Given the description of an element on the screen output the (x, y) to click on. 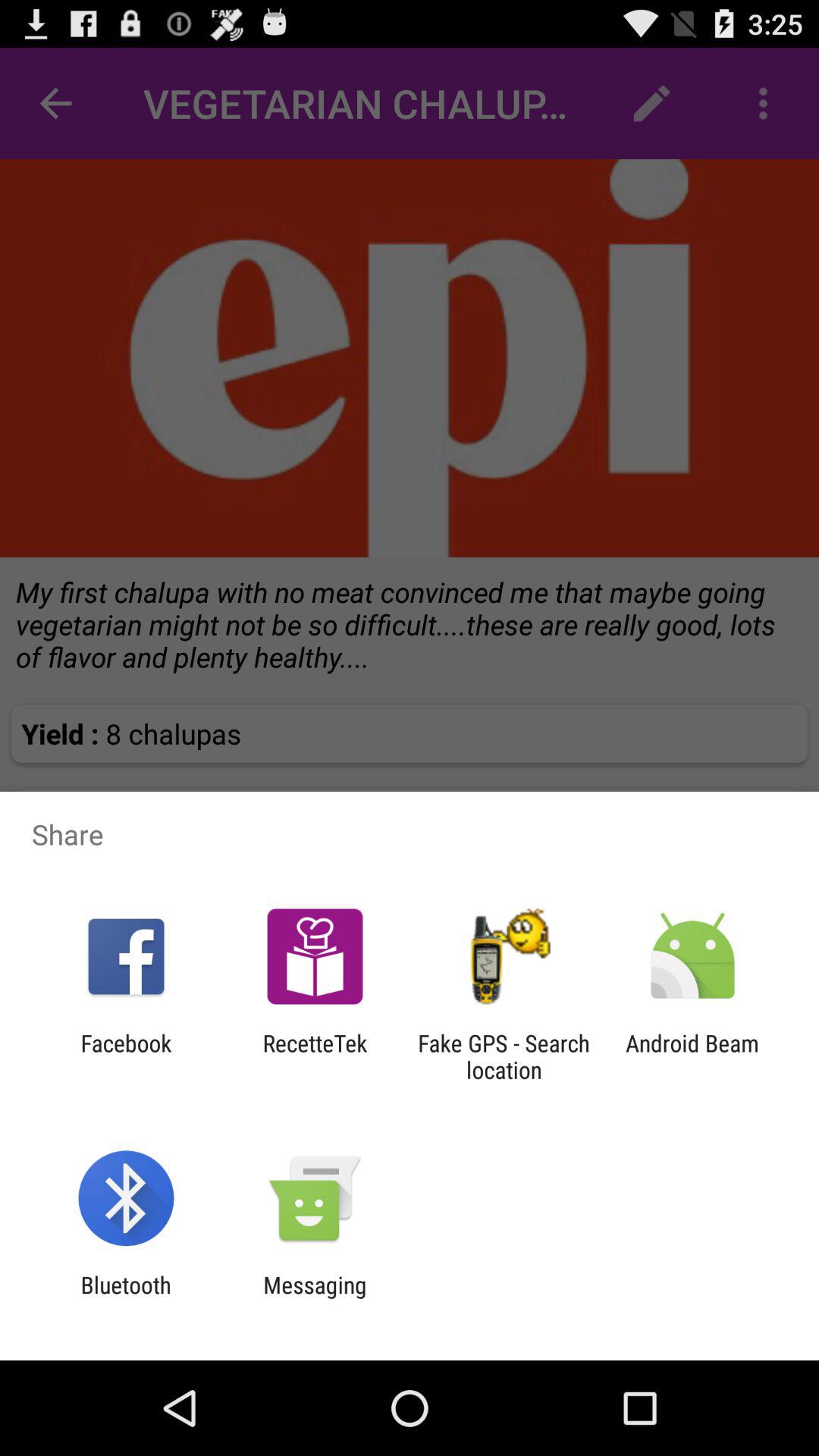
click app next to the messaging (125, 1298)
